Given the description of an element on the screen output the (x, y) to click on. 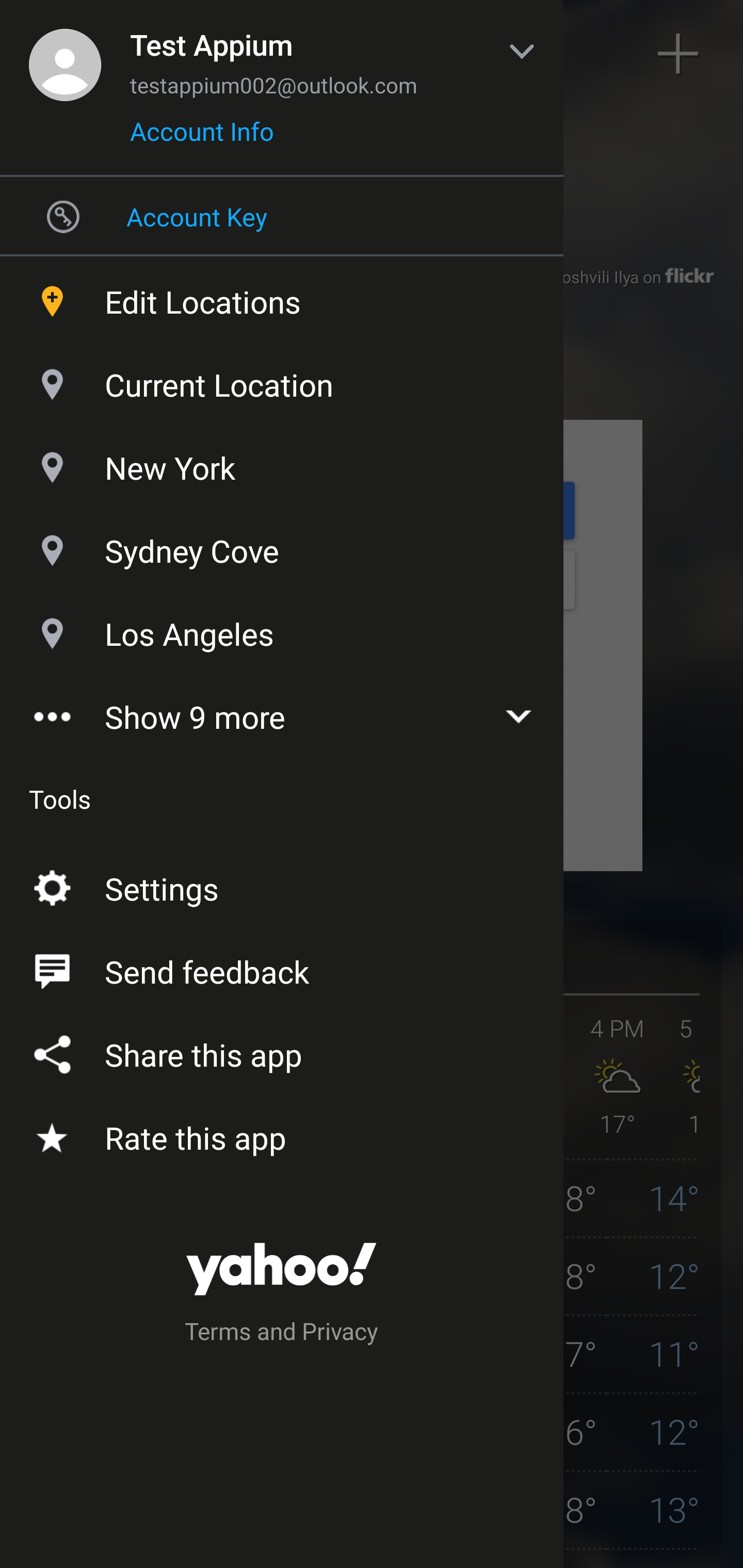
Sidebar (64, 54)
Account Info (202, 137)
Account Key (281, 216)
Edit Locations (281, 296)
Current Location (281, 379)
New York (281, 462)
Sydney Cove (281, 546)
Los Angeles (281, 629)
Settings (281, 884)
Send feedback (281, 967)
Share this app (281, 1050)
Terms and Privacy Terms and privacy button (281, 1334)
